Given the description of an element on the screen output the (x, y) to click on. 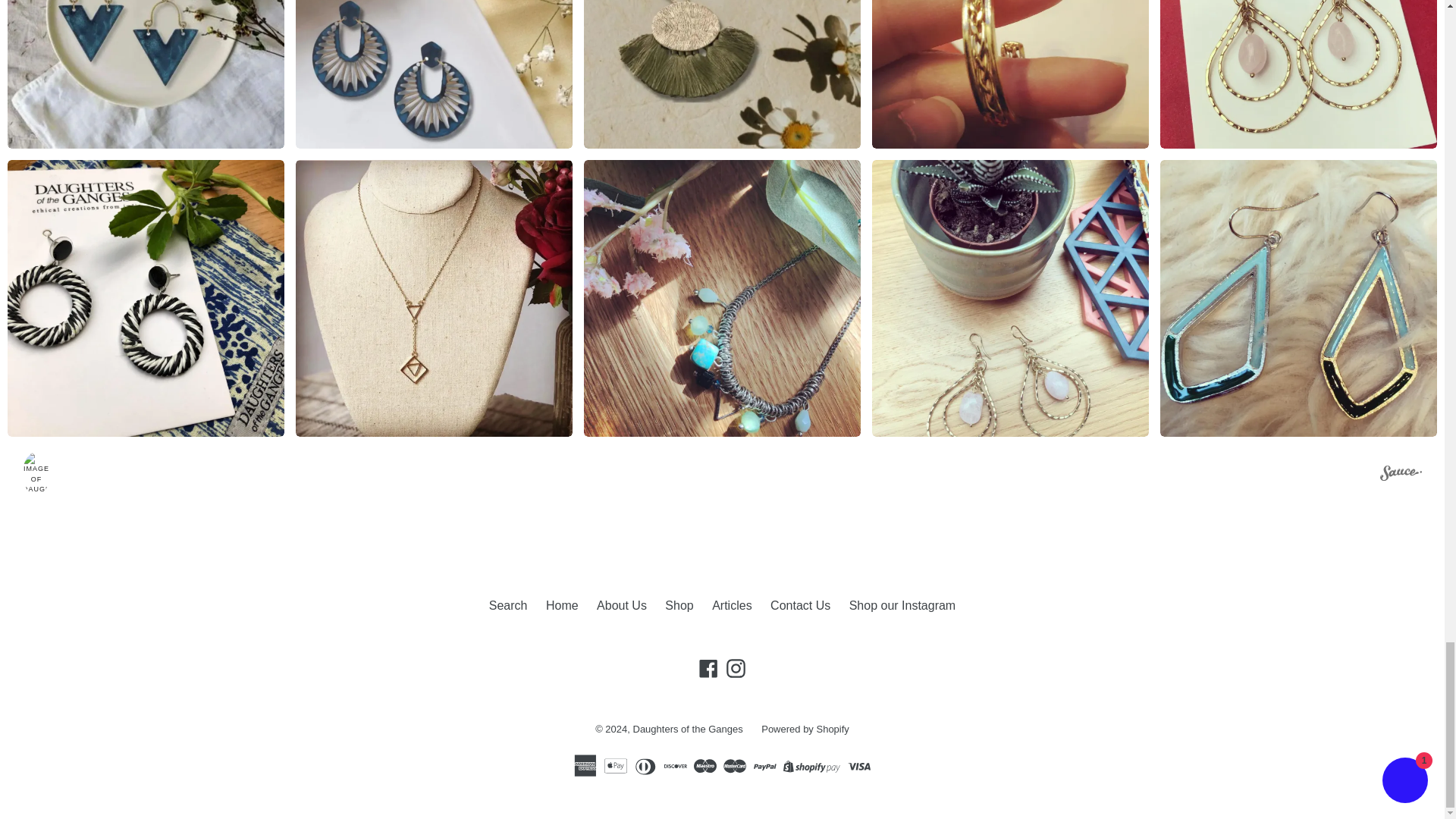
Daughters of the Ganges on Facebook (708, 668)
Daughters of the Ganges on Instagram (735, 668)
